Given the description of an element on the screen output the (x, y) to click on. 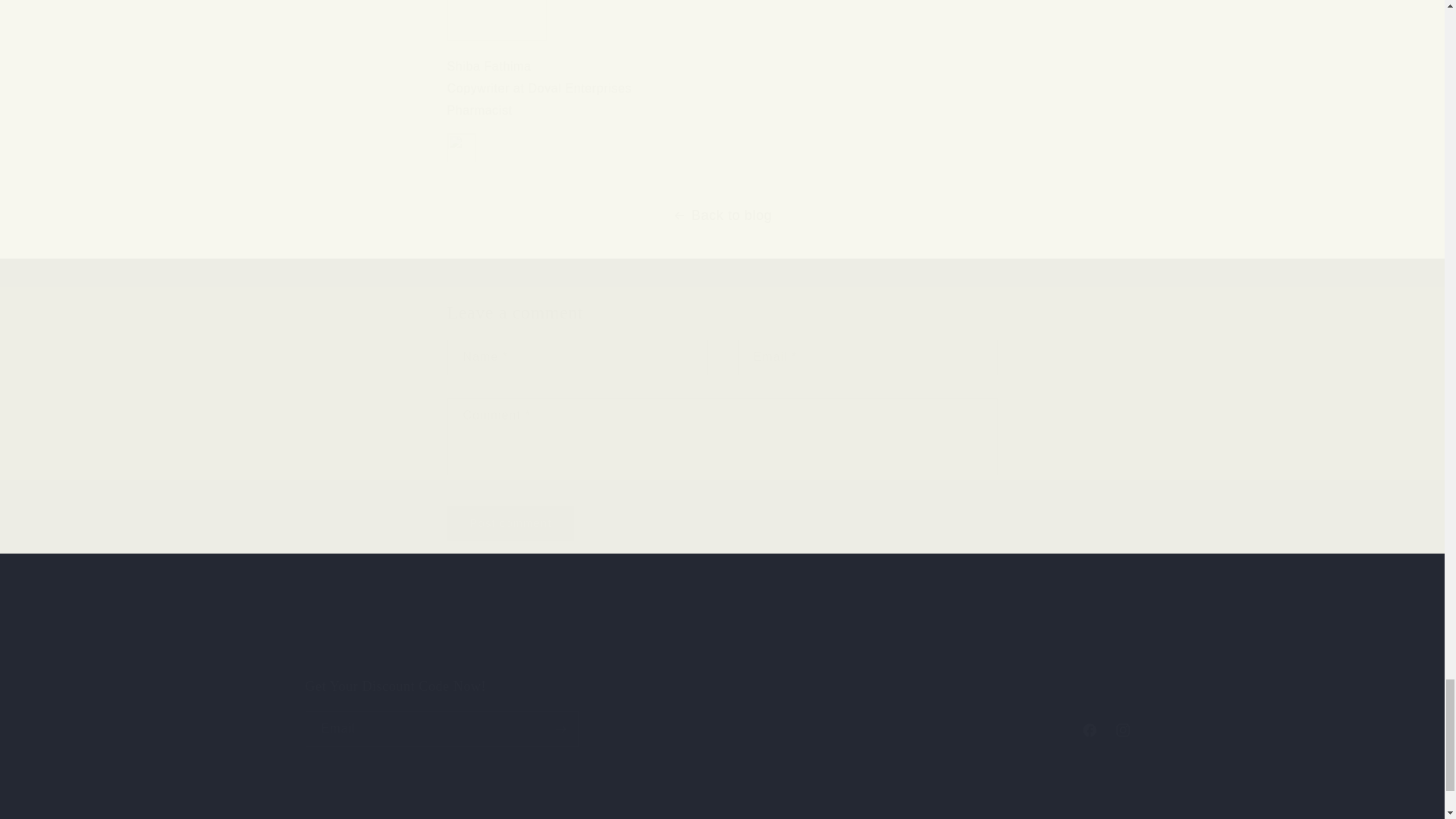
Post comment (510, 523)
Shipping Policy (818, 656)
Contact Us (511, 658)
Privacy Policy (592, 656)
Post comment (510, 523)
